Given the description of an element on the screen output the (x, y) to click on. 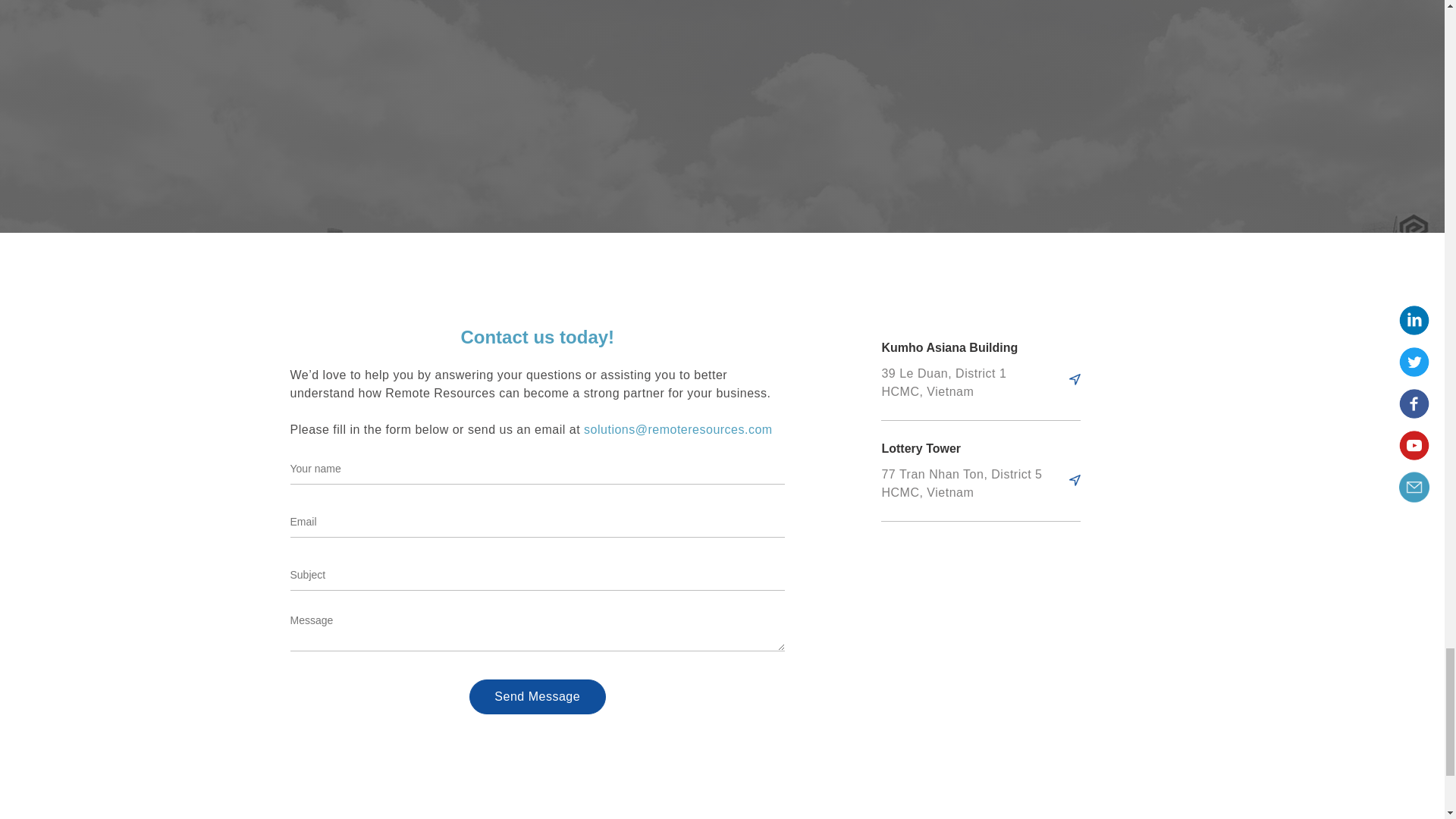
Send Message (536, 696)
